Given the description of an element on the screen output the (x, y) to click on. 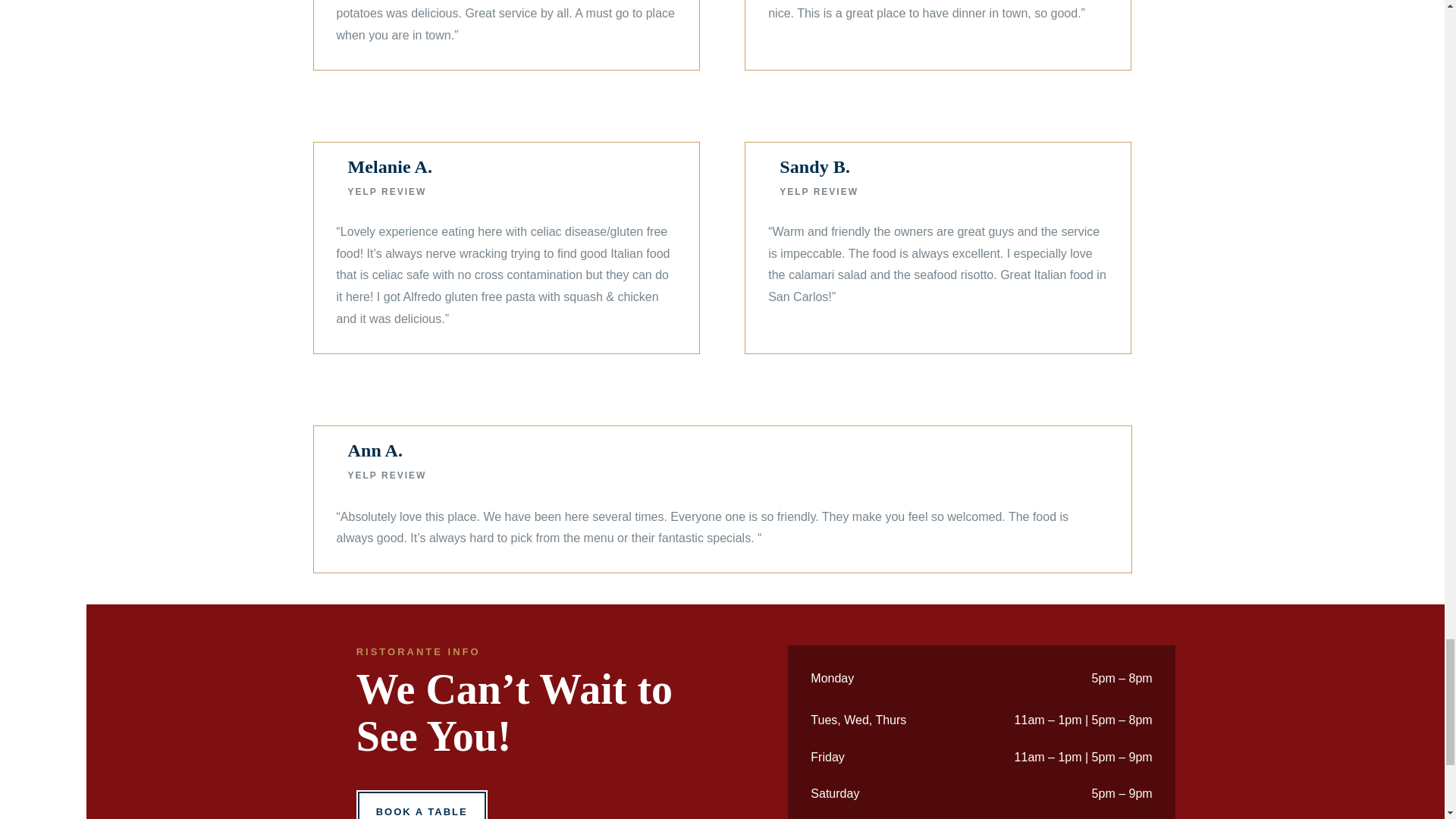
BOOK A TABLE (421, 804)
